Given the description of an element on the screen output the (x, y) to click on. 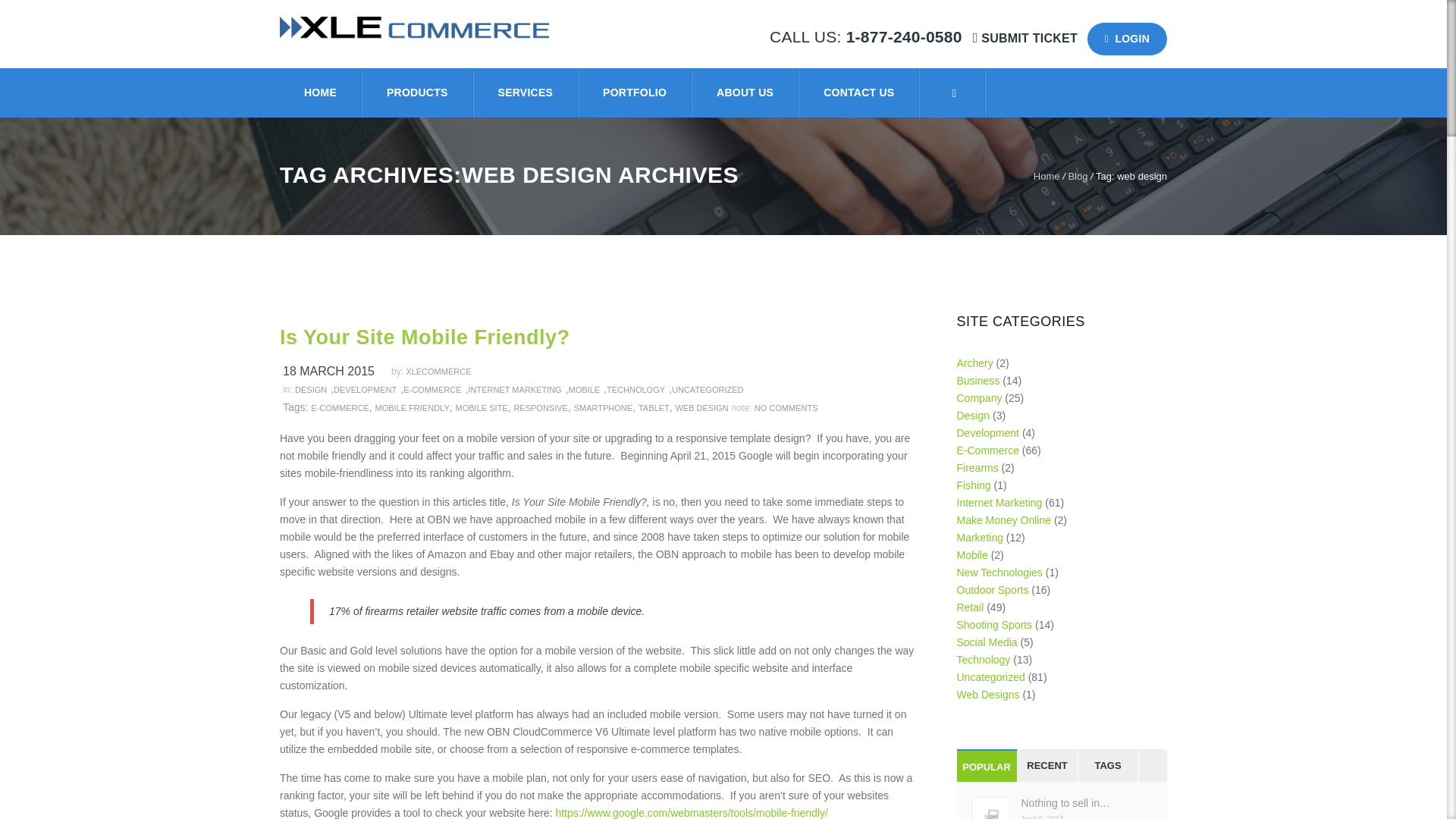
PORTFOLIO (635, 92)
  LOGIN (1127, 38)
PRODUCTS (418, 92)
View all posts by xlecommerce (445, 370)
Nothing to sell in the firearm industry??? Part 2 (1062, 802)
SERVICES (526, 92)
Permalink to Is Your Site Mobile Friendly? (601, 337)
Click to leave a comment (786, 407)
SUBMIT TICKET (1026, 38)
HOME (320, 92)
